Given the description of an element on the screen output the (x, y) to click on. 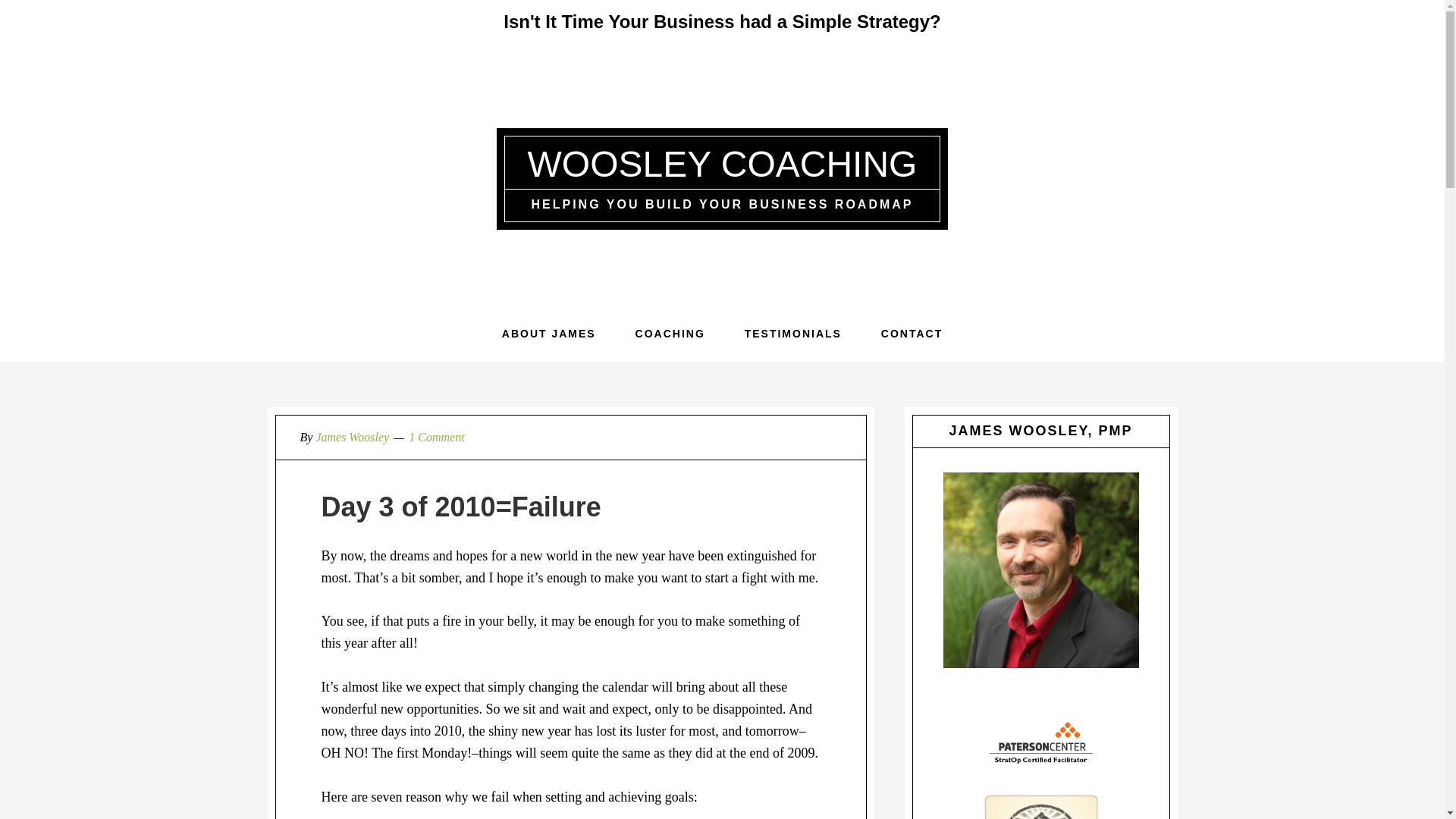
Paterson Center (1040, 740)
COACHING (670, 333)
TESTIMONIALS (793, 333)
Free Agent Academy (1040, 806)
James Woosley (351, 436)
CONTACT (911, 333)
1 Comment (436, 436)
WOOSLEY COACHING (722, 164)
ABOUT JAMES (548, 333)
